Given the description of an element on the screen output the (x, y) to click on. 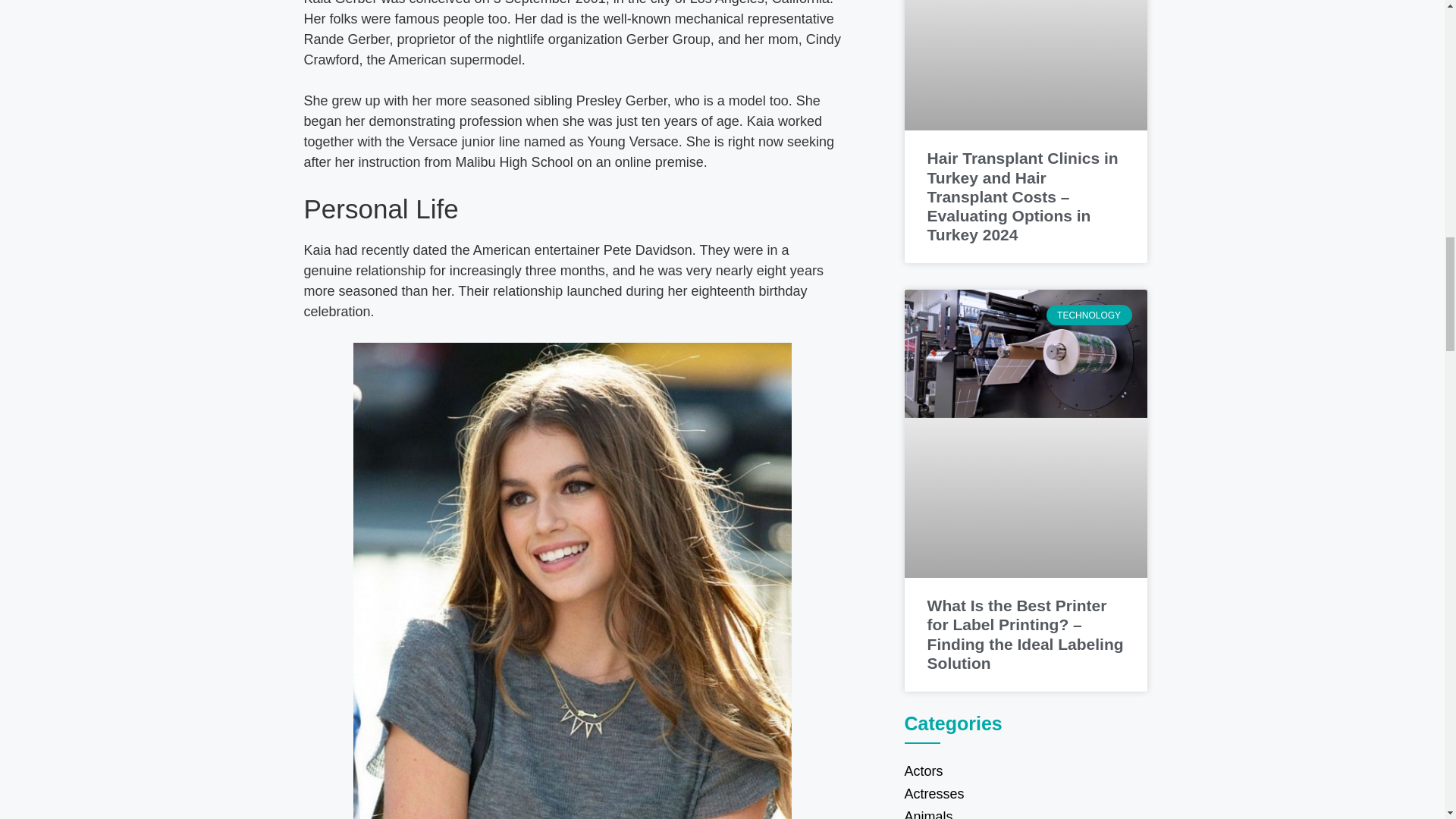
Animals (1025, 812)
Actors (1025, 771)
Actresses (1025, 793)
